Given the description of an element on the screen output the (x, y) to click on. 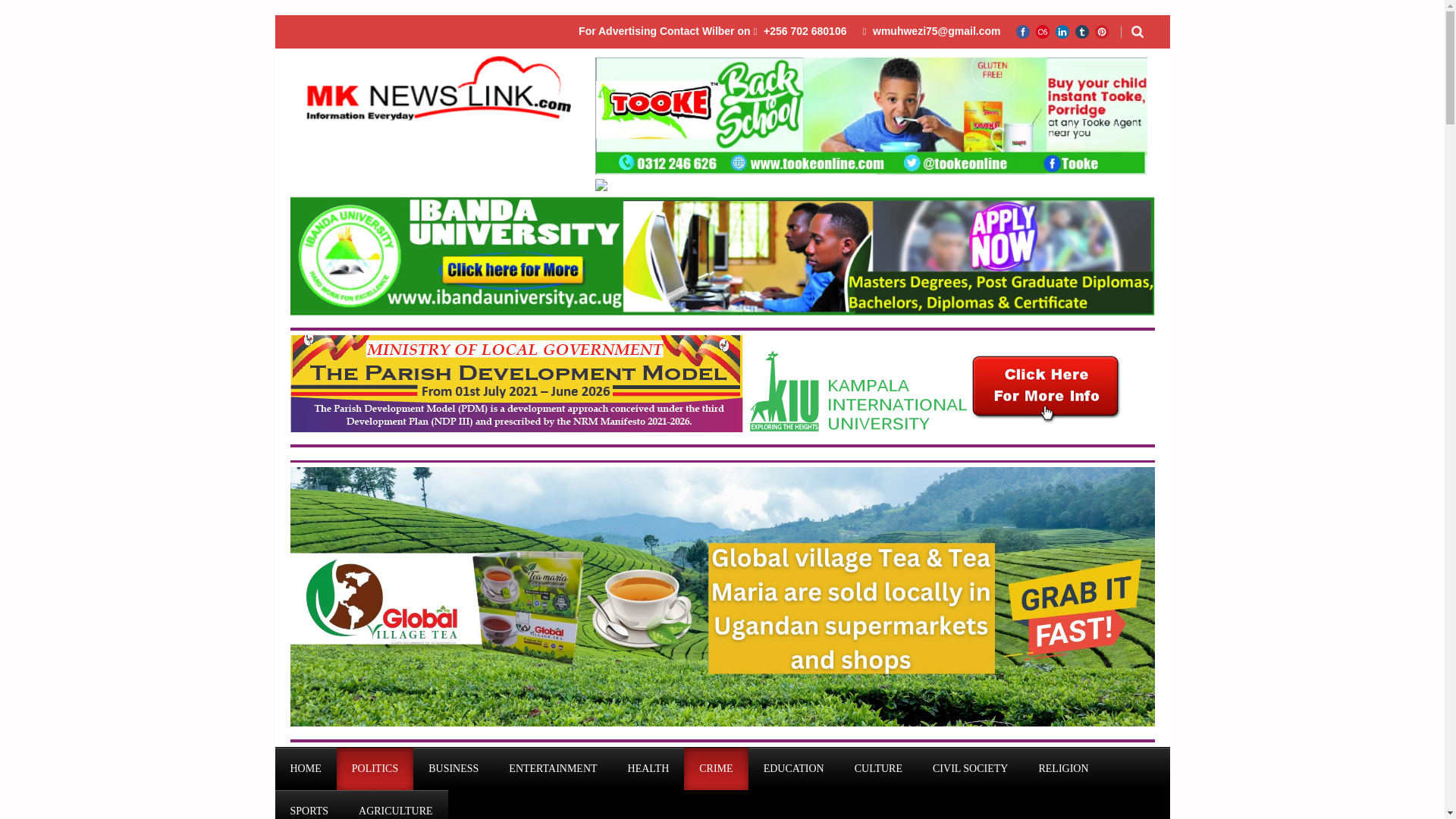
ENTERTAINMENT (552, 768)
AGRICULTURE (395, 804)
BUSINESS (453, 768)
CRIME (716, 768)
EDUCATION (794, 768)
SPORTS (309, 804)
CIVIL SOCIETY (970, 768)
RELIGION (1063, 768)
HEALTH (648, 768)
POLITICS (374, 768)
CULTURE (878, 768)
HOME (305, 768)
